Given the description of an element on the screen output the (x, y) to click on. 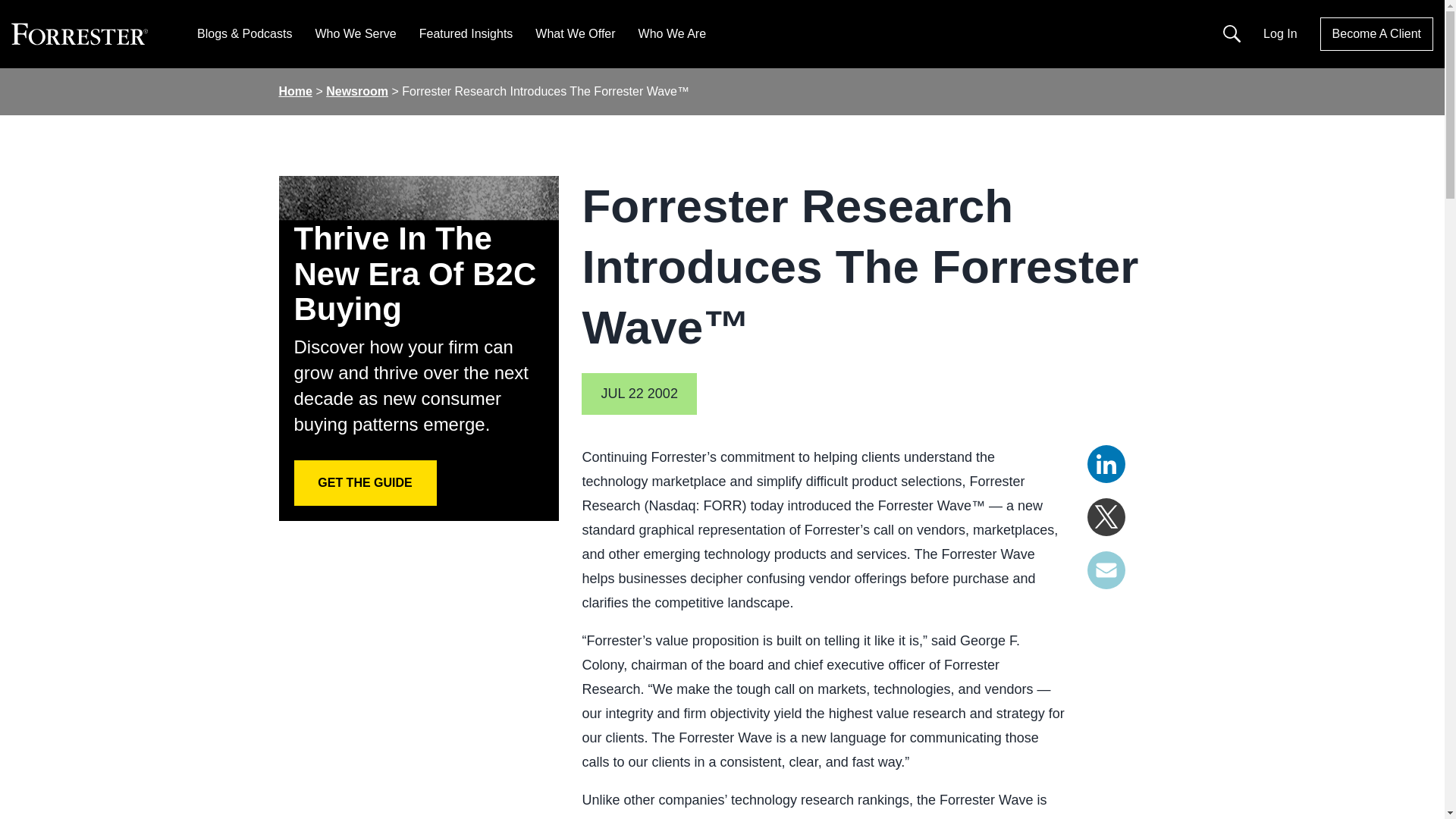
Featured Insights (466, 33)
What We Offer (574, 33)
Who We Serve (355, 33)
